Given the description of an element on the screen output the (x, y) to click on. 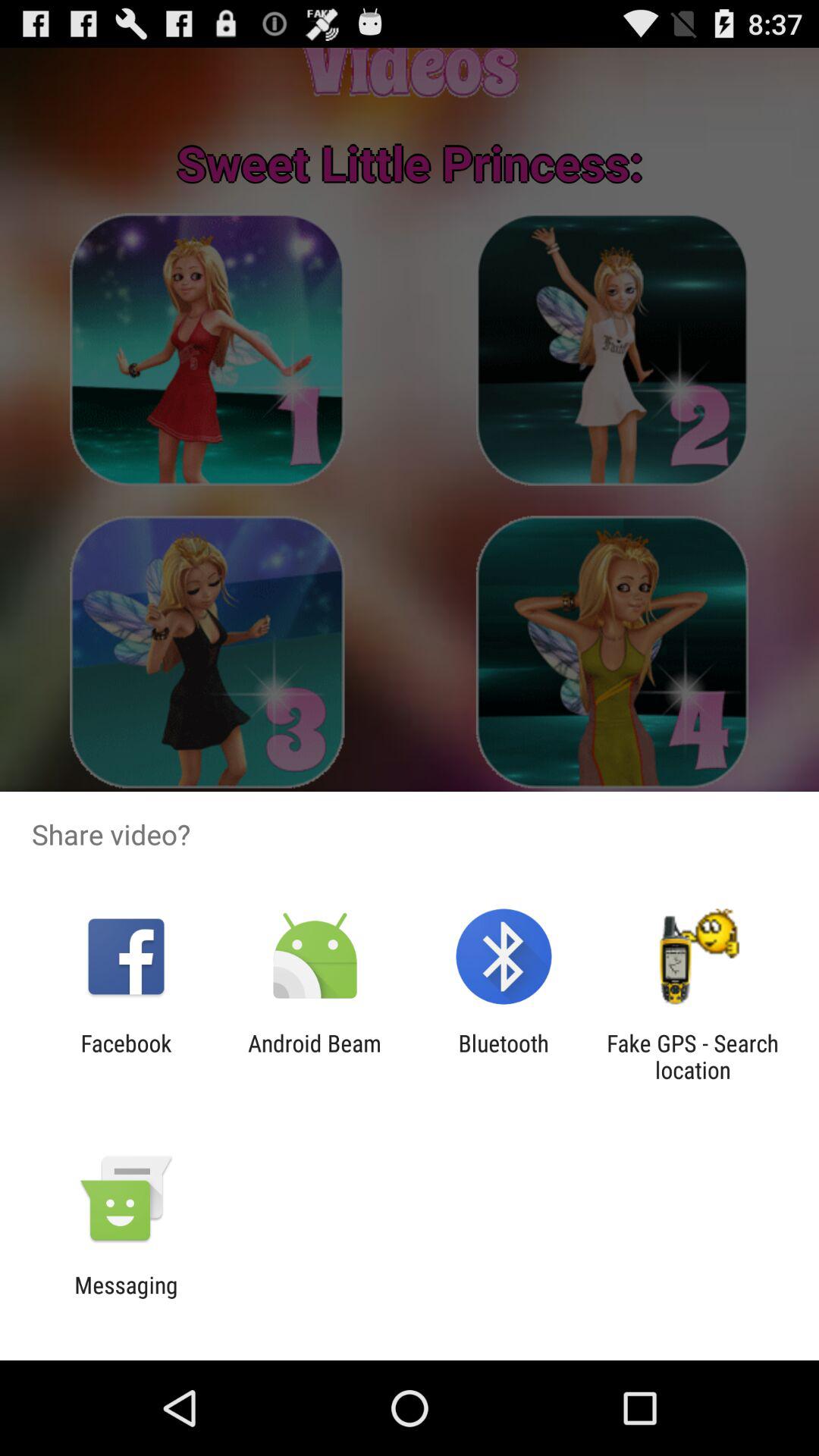
turn off fake gps search icon (692, 1056)
